Given the description of an element on the screen output the (x, y) to click on. 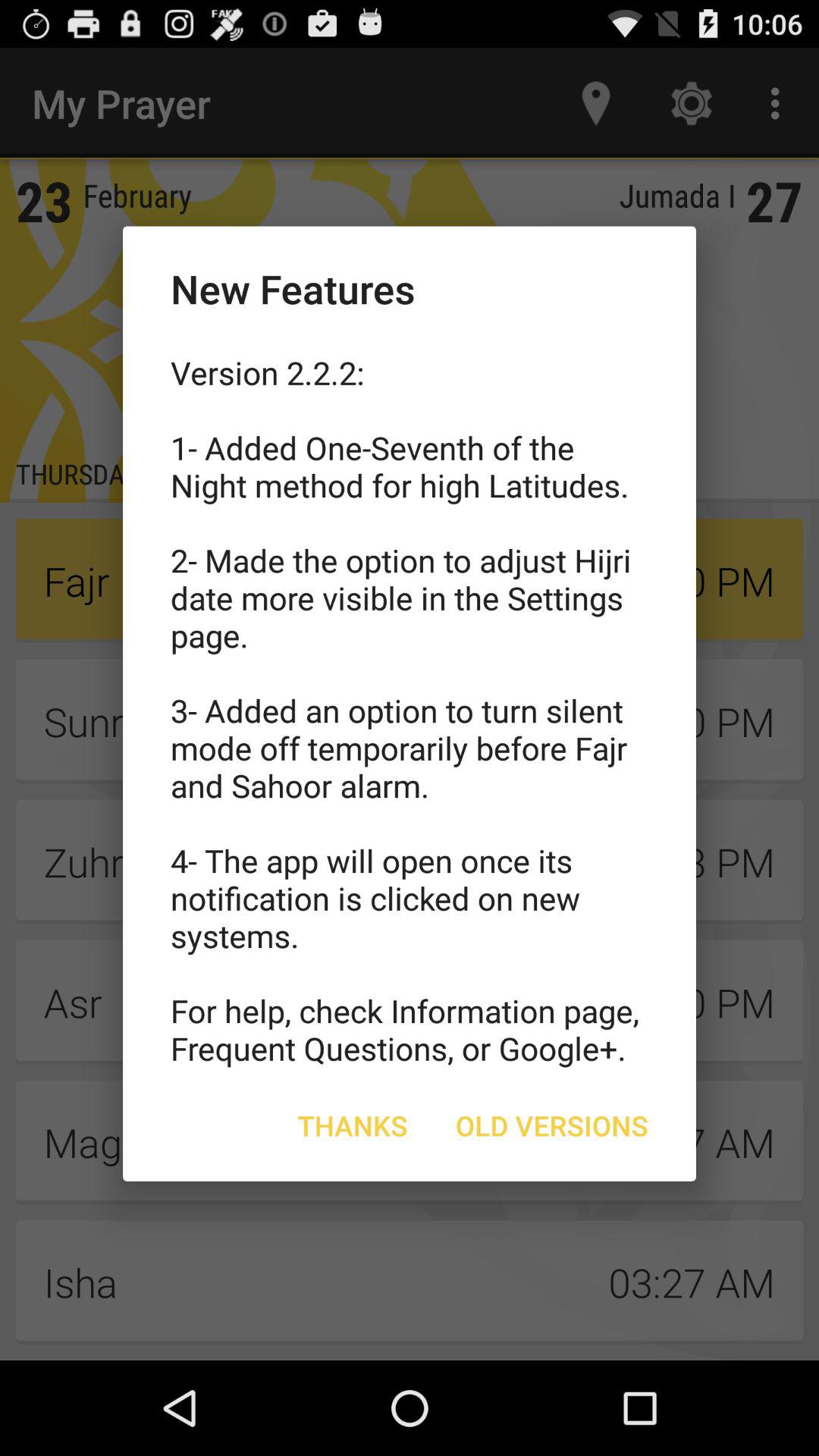
open item to the right of thanks icon (551, 1125)
